Given the description of an element on the screen output the (x, y) to click on. 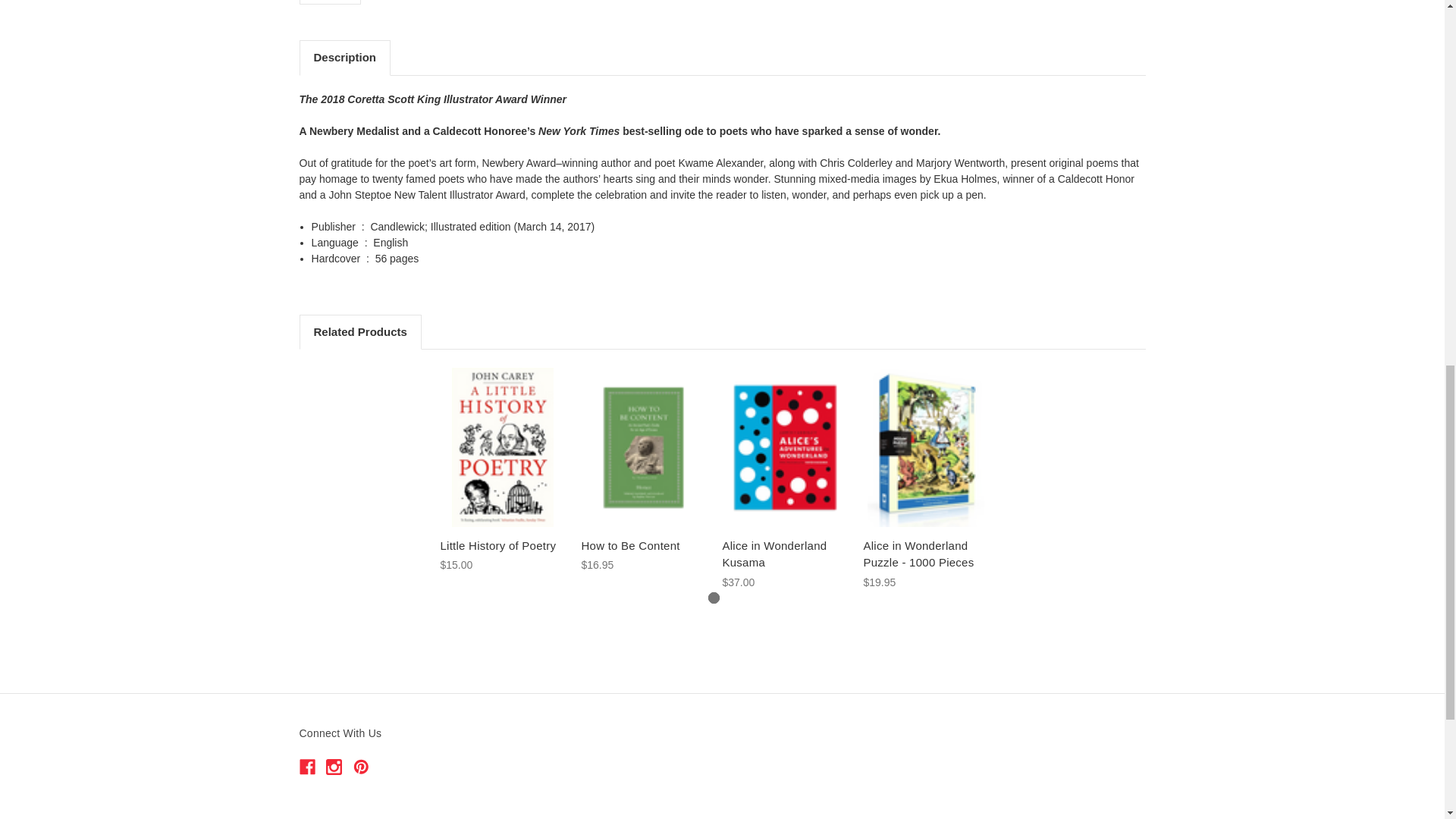
Facebook (306, 766)
Pinterest (361, 766)
Out of Wonder: Poems Celebrating Poets (330, 1)
Instagram (334, 766)
